Given the description of an element on the screen output the (x, y) to click on. 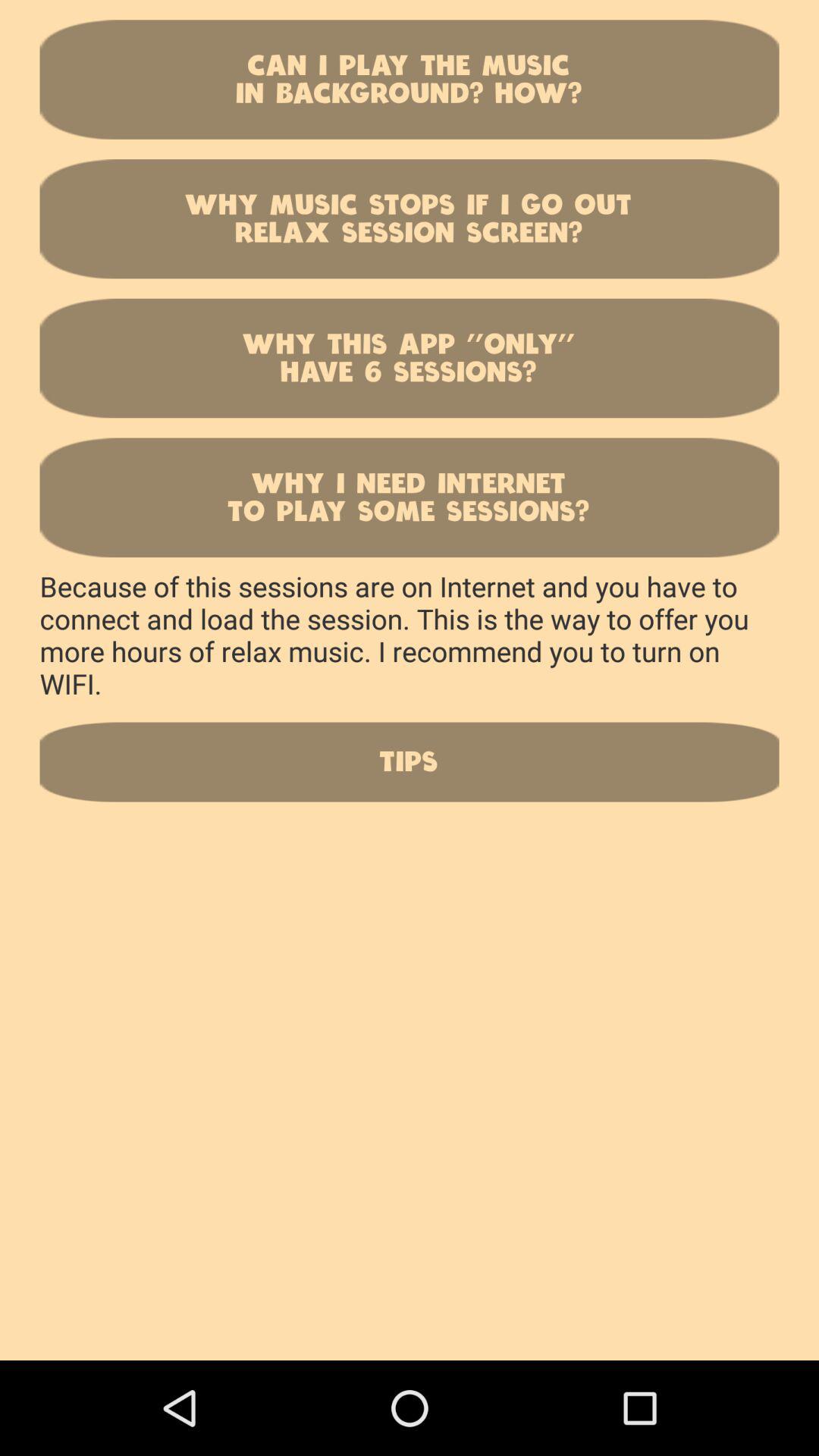
choose item above the why this app icon (409, 218)
